Given the description of an element on the screen output the (x, y) to click on. 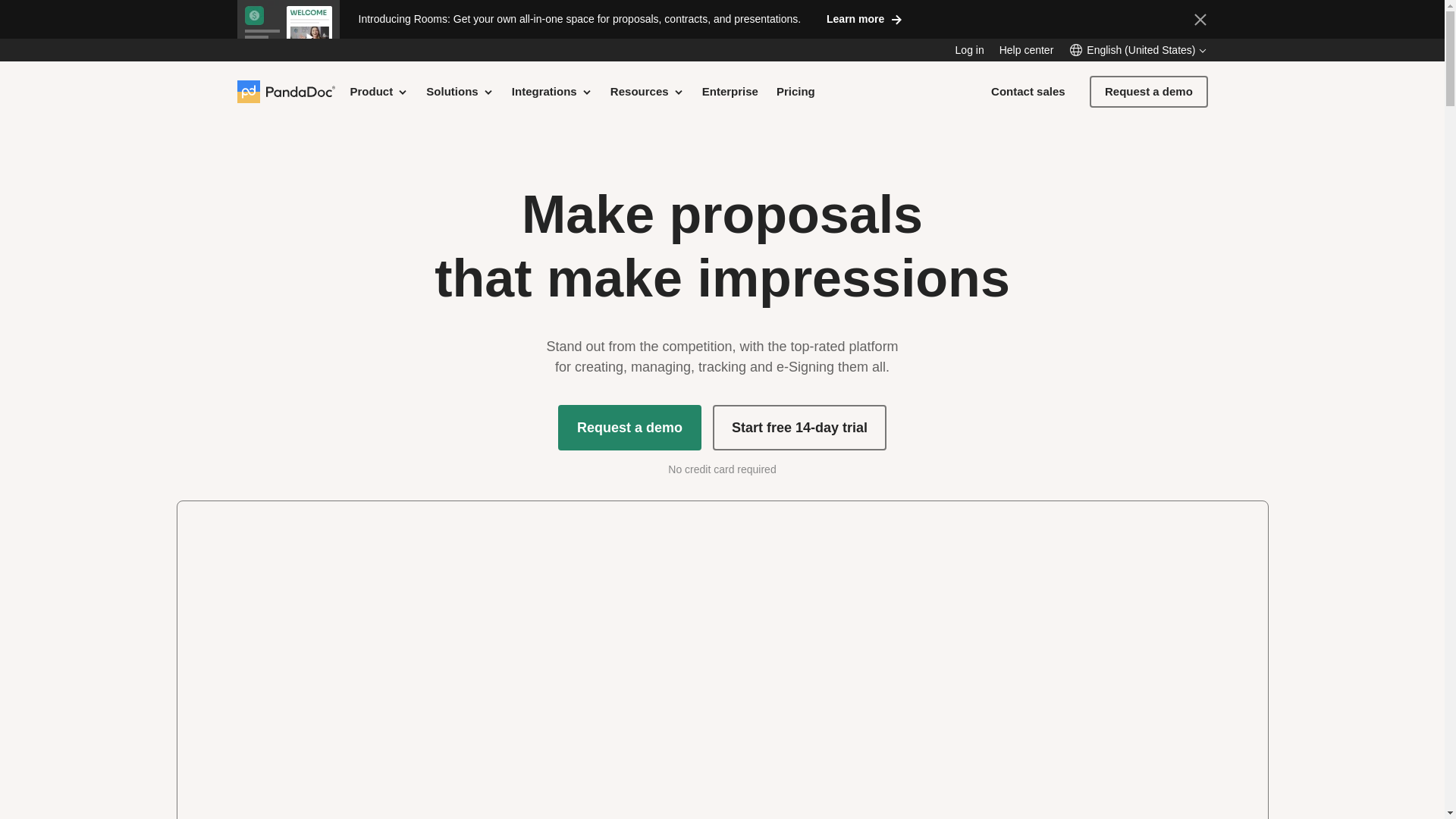
Product (379, 91)
Learn more (864, 18)
Log in (969, 50)
Solutions (459, 91)
Help center (1026, 50)
